Given the description of an element on the screen output the (x, y) to click on. 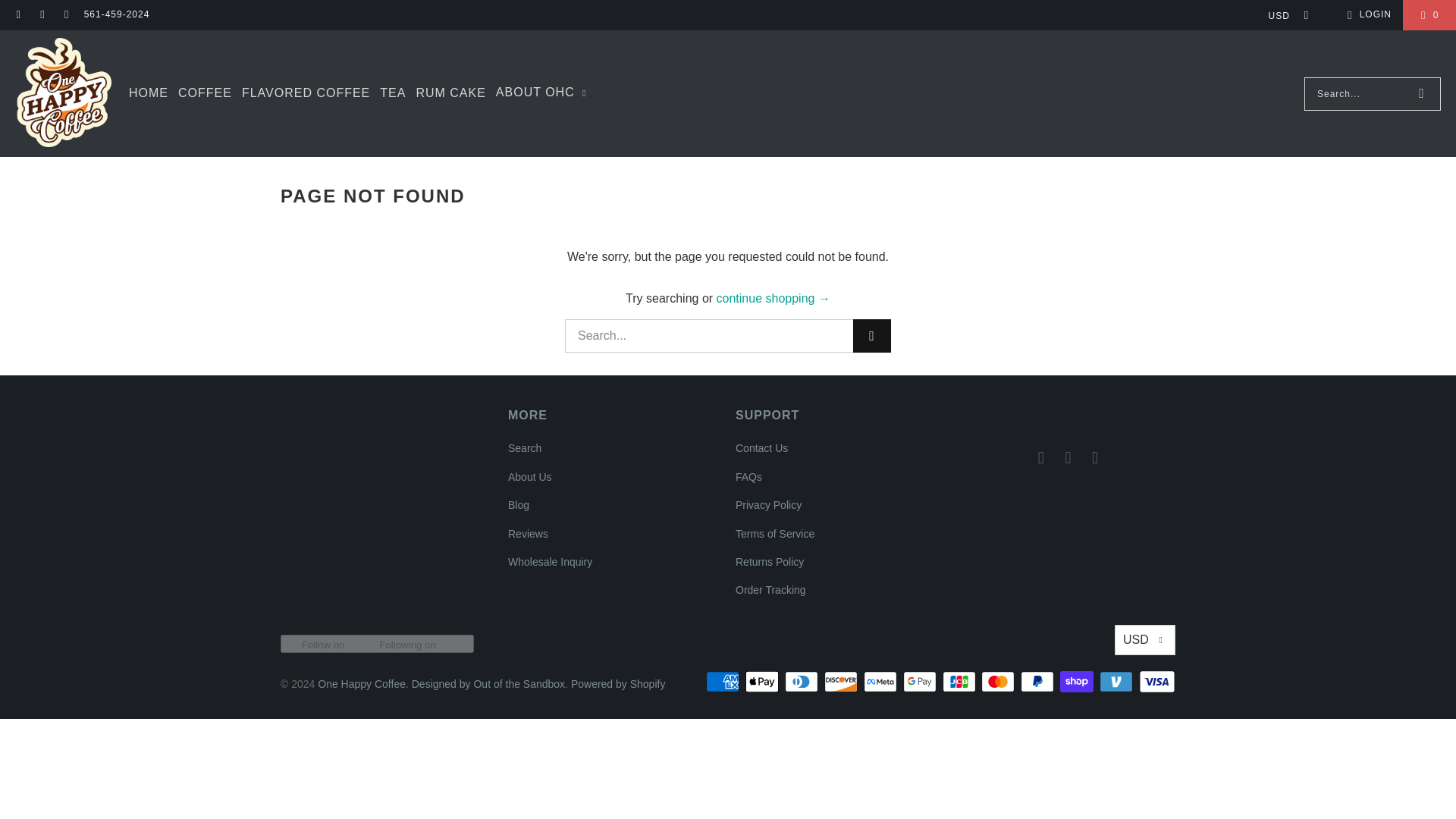
Shop Pay (1077, 681)
Discover (842, 681)
JCB (960, 681)
One Happy Coffee on Facebook (1041, 457)
One Happy Coffee on Facebook (17, 14)
Venmo (1117, 681)
COFFEE (204, 93)
561-459-2024 (116, 14)
PayPal (1038, 681)
USD (1283, 15)
Diners Club (802, 681)
LOGIN (1366, 14)
Mastercard (999, 681)
One Happy Coffee on YouTube (65, 14)
Apple Pay (763, 681)
